Given the description of an element on the screen output the (x, y) to click on. 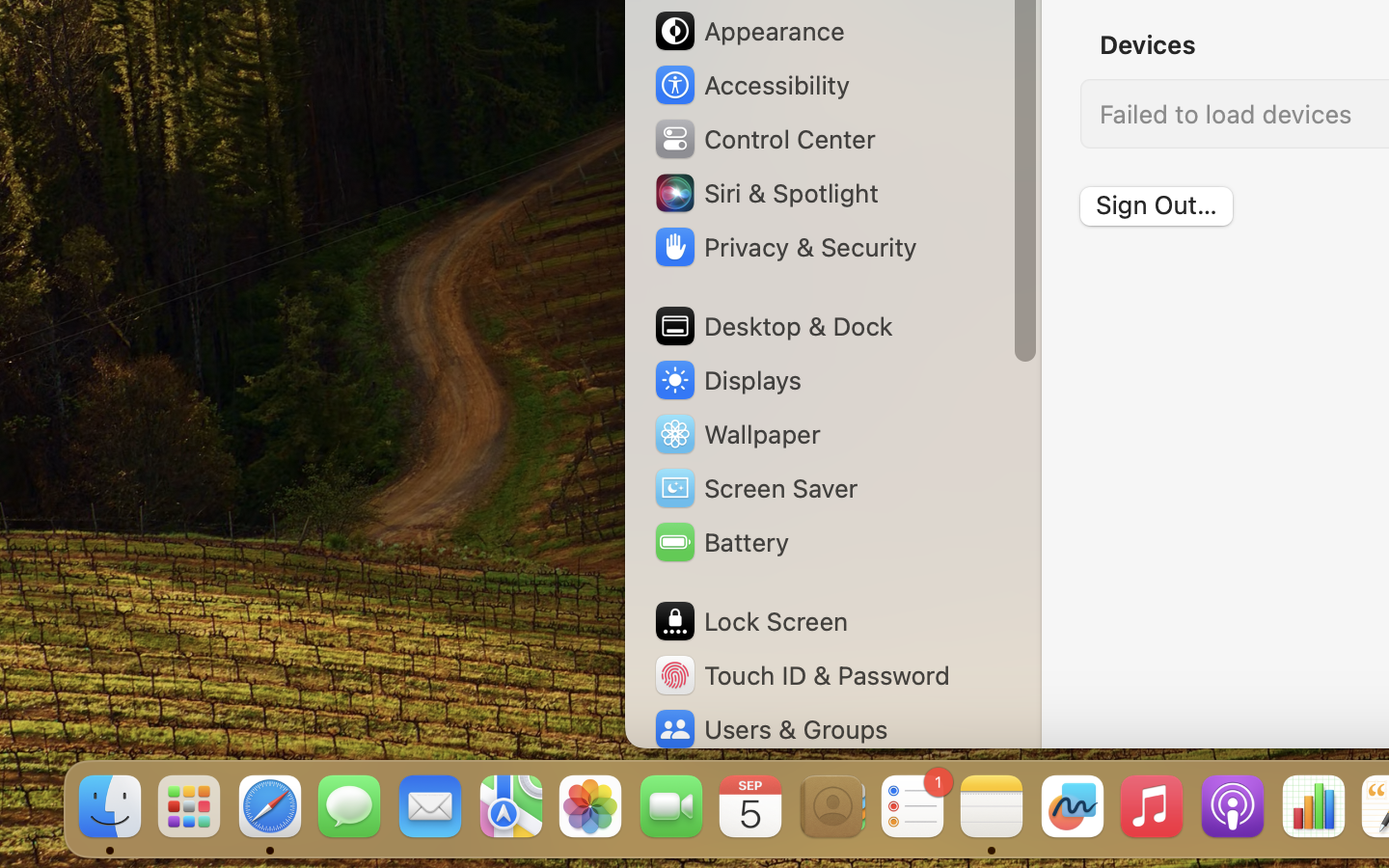
Screen Saver Element type: AXStaticText (755, 487)
Users & Groups Element type: AXStaticText (769, 728)
Control Center Element type: AXStaticText (763, 138)
Accessibility Element type: AXStaticText (751, 84)
Desktop & Dock Element type: AXStaticText (772, 325)
